Given the description of an element on the screen output the (x, y) to click on. 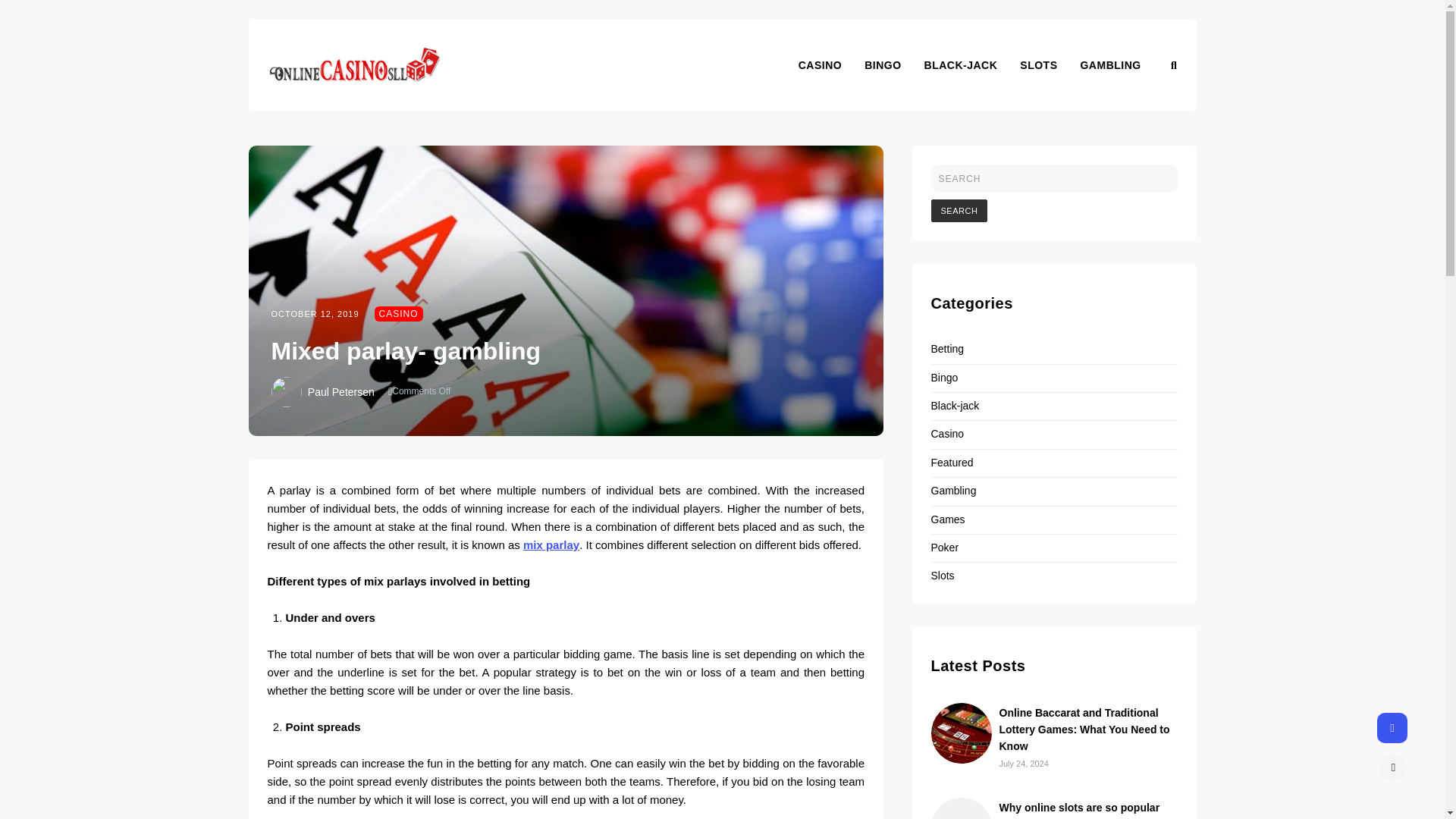
CASINO (398, 313)
OCTOBER 12, 2019 (314, 313)
Scroll To Top (1393, 767)
Posts by Paul Petersen (340, 391)
Games (948, 519)
SLOTS (1050, 64)
Gambling (953, 490)
Slots (943, 575)
Paul Petersen (340, 391)
Betting (947, 348)
Casino (947, 433)
Why online slots are so popular among gamblers? (1079, 810)
Bingo (944, 377)
Black-jack (955, 405)
